Given the description of an element on the screen output the (x, y) to click on. 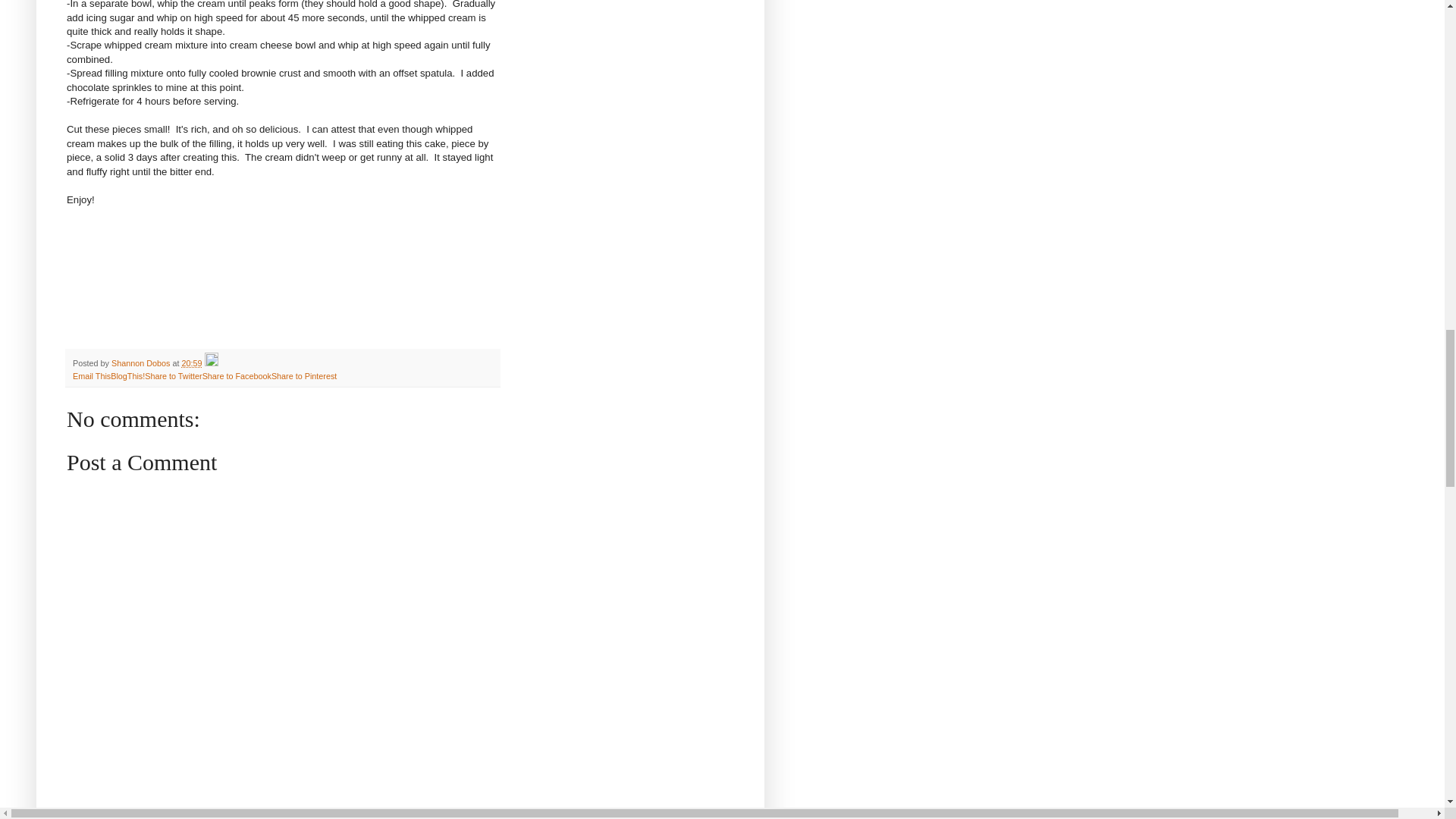
Share to Twitter (173, 375)
permanent link (192, 362)
author profile (141, 362)
Share to Twitter (173, 375)
BlogThis! (127, 375)
Older Post (148, 811)
Newer Post (93, 811)
Older Post (148, 811)
Share to Pinterest (303, 375)
Home (192, 811)
Edit Post (211, 362)
BlogThis! (127, 375)
Share to Facebook (236, 375)
Share to Pinterest (303, 375)
Newer Post (93, 811)
